Given the description of an element on the screen output the (x, y) to click on. 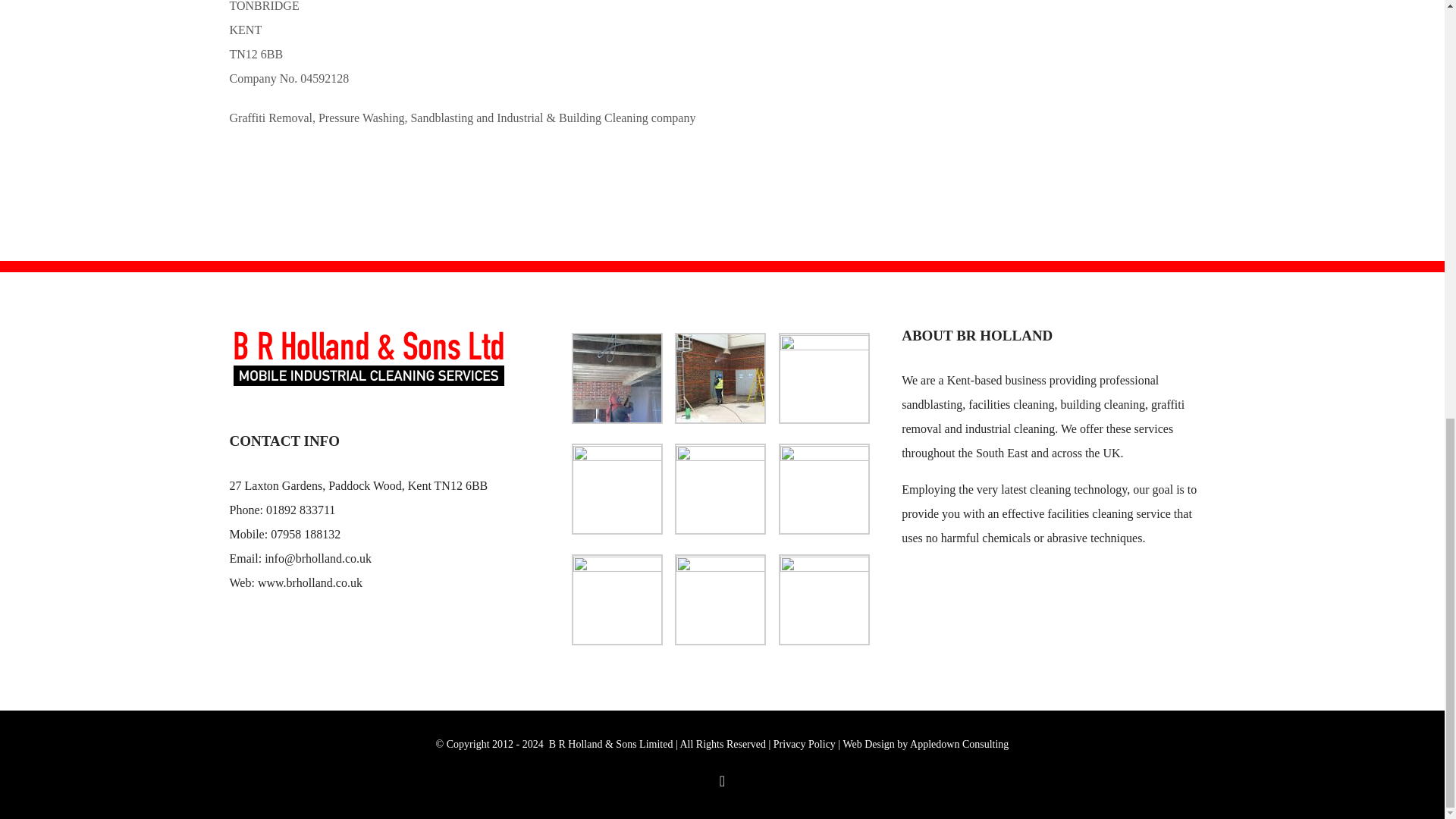
01892 833711 (300, 509)
Appledown Consulting (959, 744)
Privacy Policy (804, 744)
07958 188132 (305, 533)
www.brholland.co.uk (309, 582)
